Given the description of an element on the screen output the (x, y) to click on. 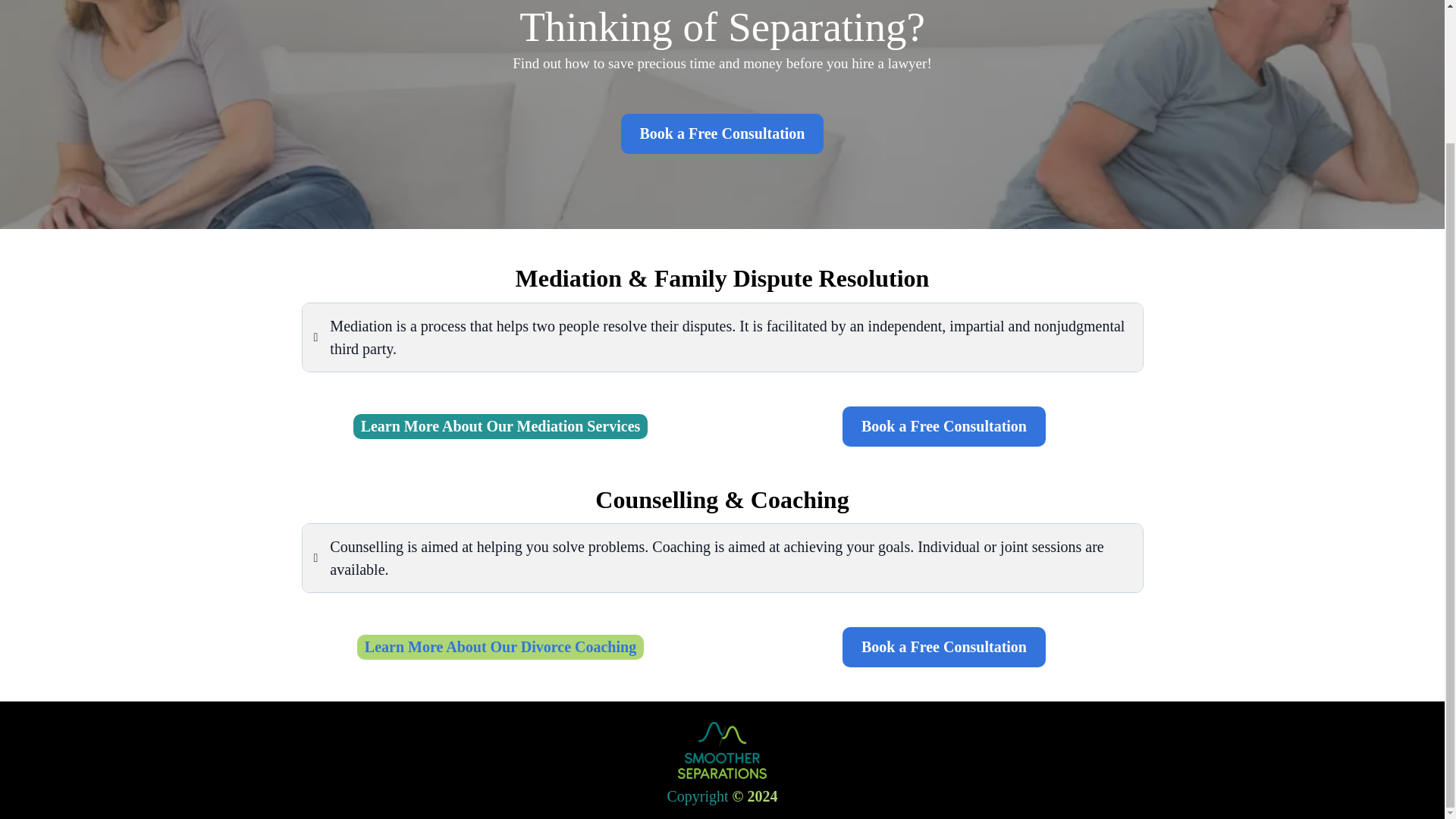
Book a Free Consultation (944, 647)
Book a Free Consultation (944, 426)
Book a Free Consultation (722, 133)
Learn More About Our Mediation Services (500, 426)
Learn More About Our Divorce Coaching (499, 647)
